Given the description of an element on the screen output the (x, y) to click on. 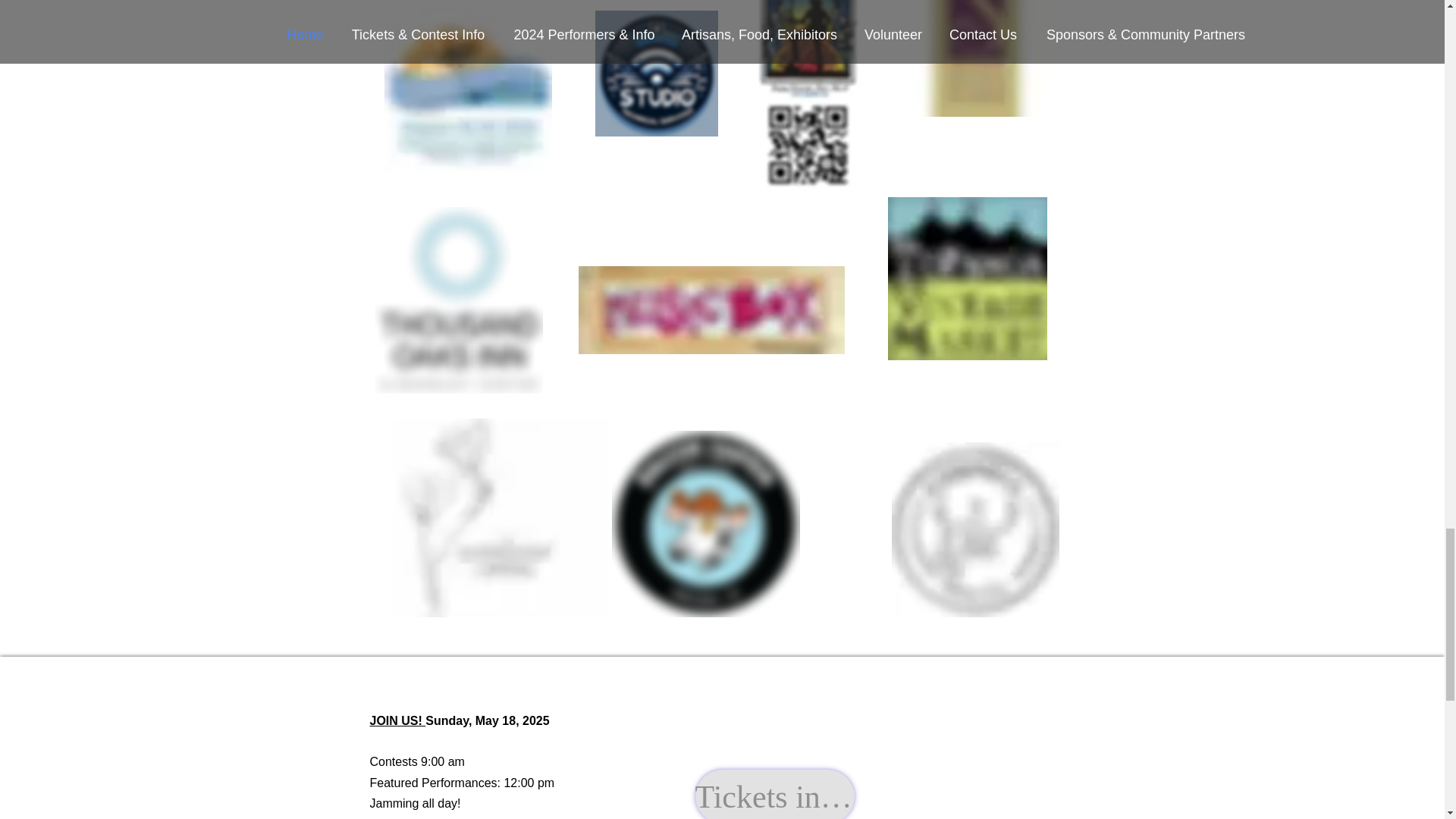
image0.jpeg (467, 90)
